Given the description of an element on the screen output the (x, y) to click on. 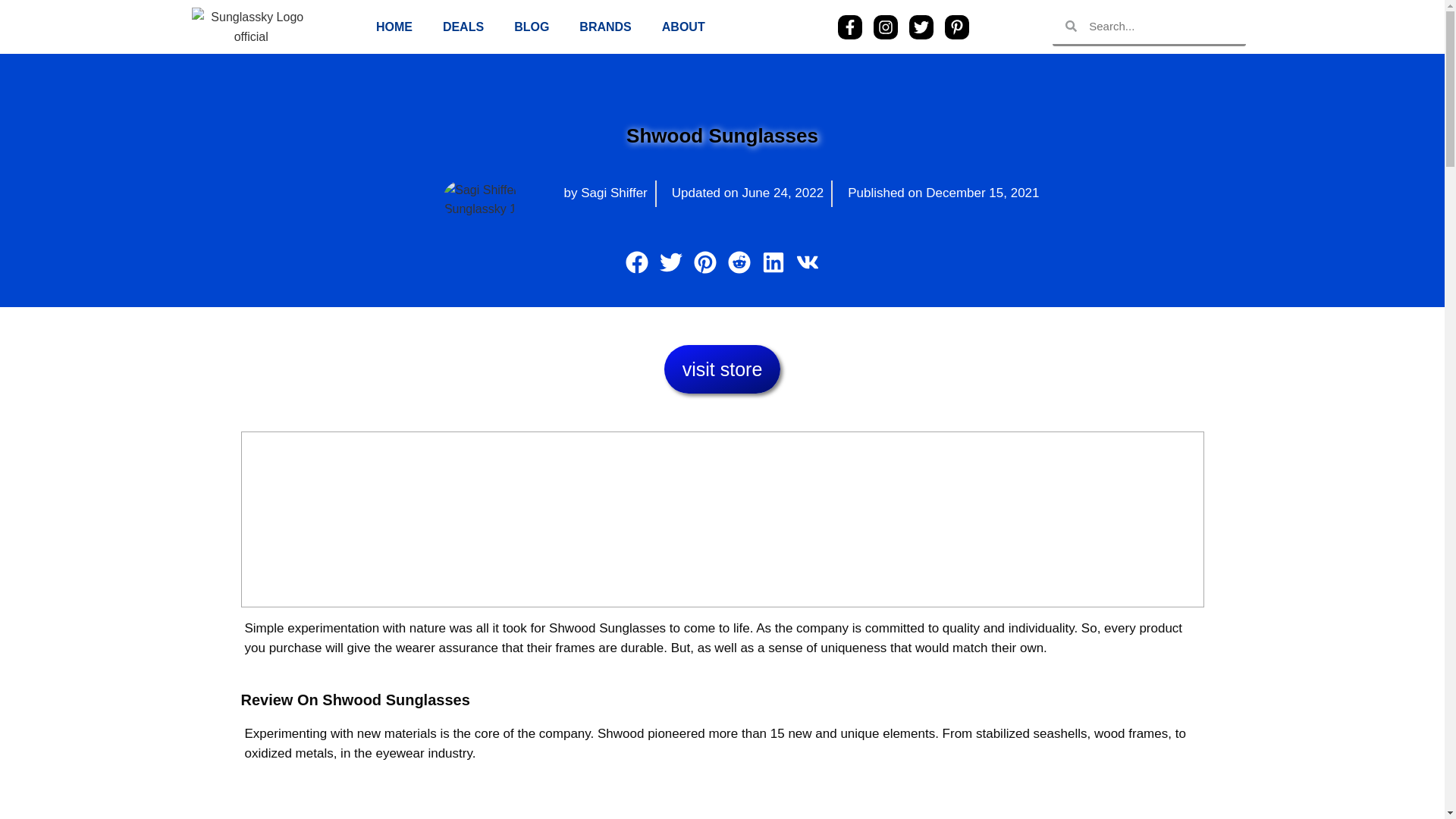
DEALS (463, 27)
by Sagi Shiffer (601, 192)
BLOG (531, 27)
Published on December 15, 2021 (939, 192)
Sunglassky Logo official (250, 26)
visit store (721, 368)
Shwood Handcrafted Wooden Eyewear (722, 800)
BRANDS (605, 27)
HOME (394, 27)
Sagi Shiffer Sunglassky 1 (480, 199)
